Given the description of an element on the screen output the (x, y) to click on. 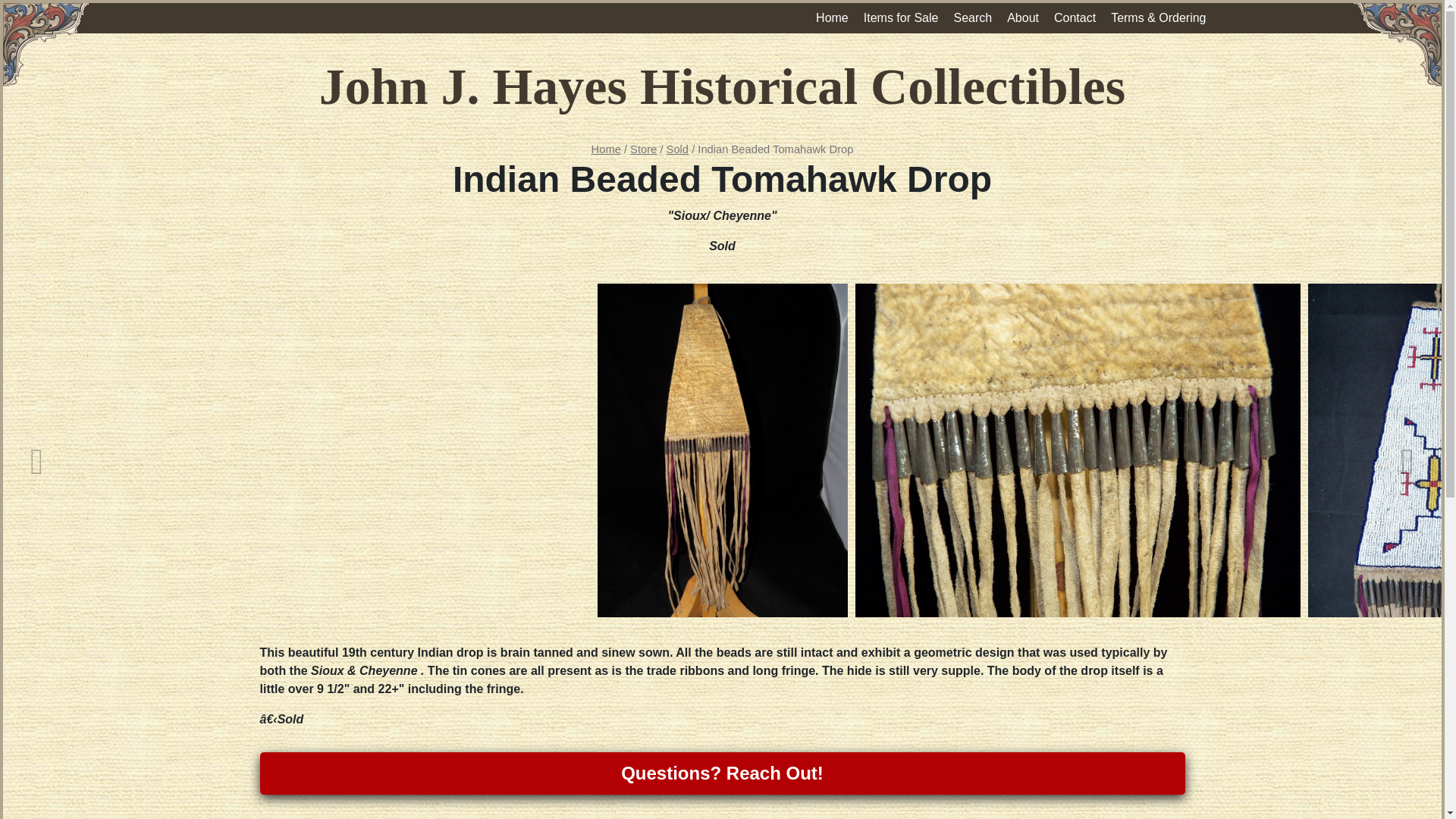
Home (606, 149)
Sold (677, 149)
Home (832, 17)
About (1022, 17)
Store (643, 149)
John J. Hayes Historical Collectibles (721, 86)
Contact (1074, 17)
Items for Sale (901, 17)
Search (971, 17)
